Given the description of an element on the screen output the (x, y) to click on. 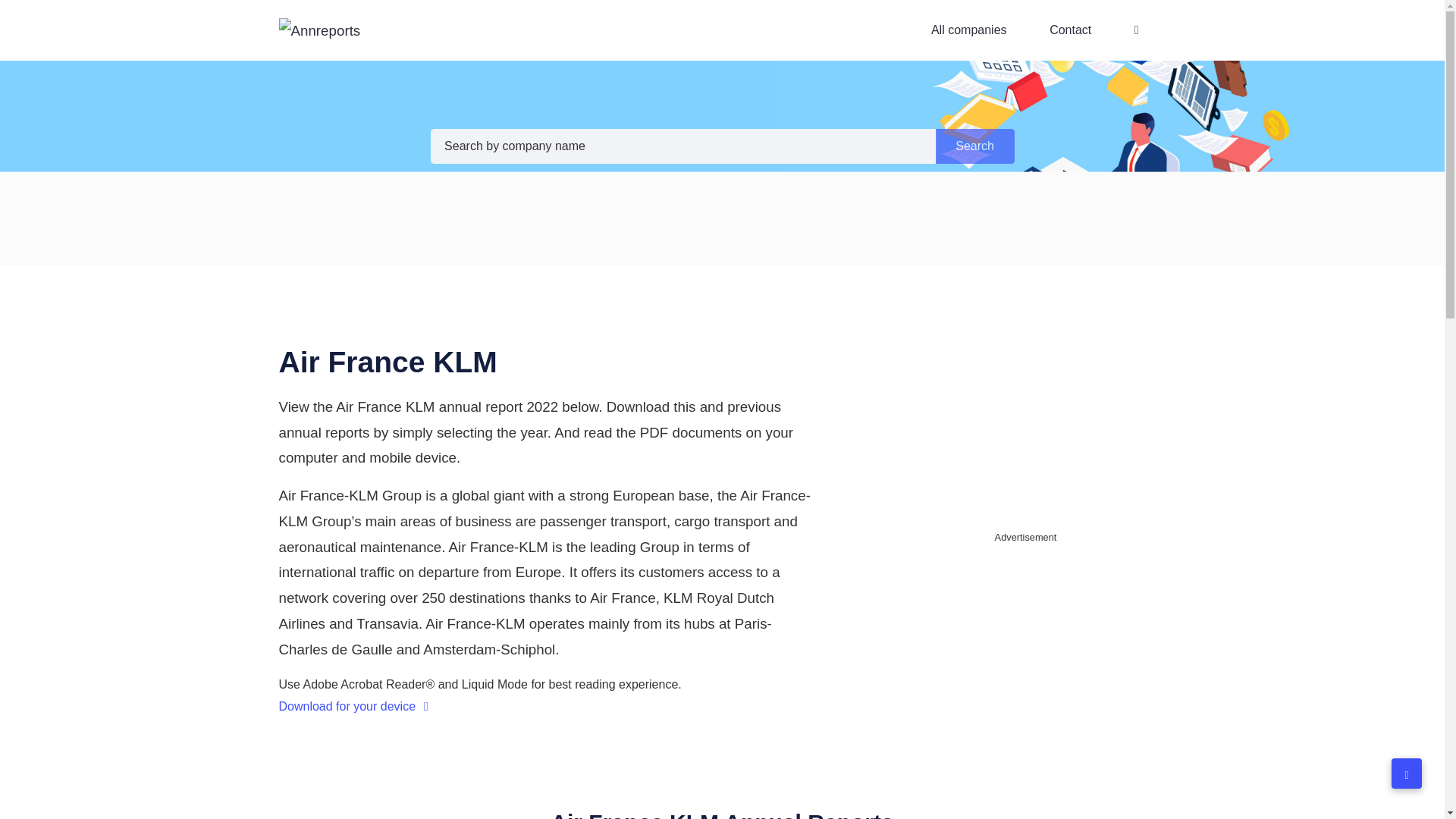
Contact (1069, 30)
Download for your device (353, 706)
Search (975, 146)
All companies (968, 30)
Search (975, 146)
